Given the description of an element on the screen output the (x, y) to click on. 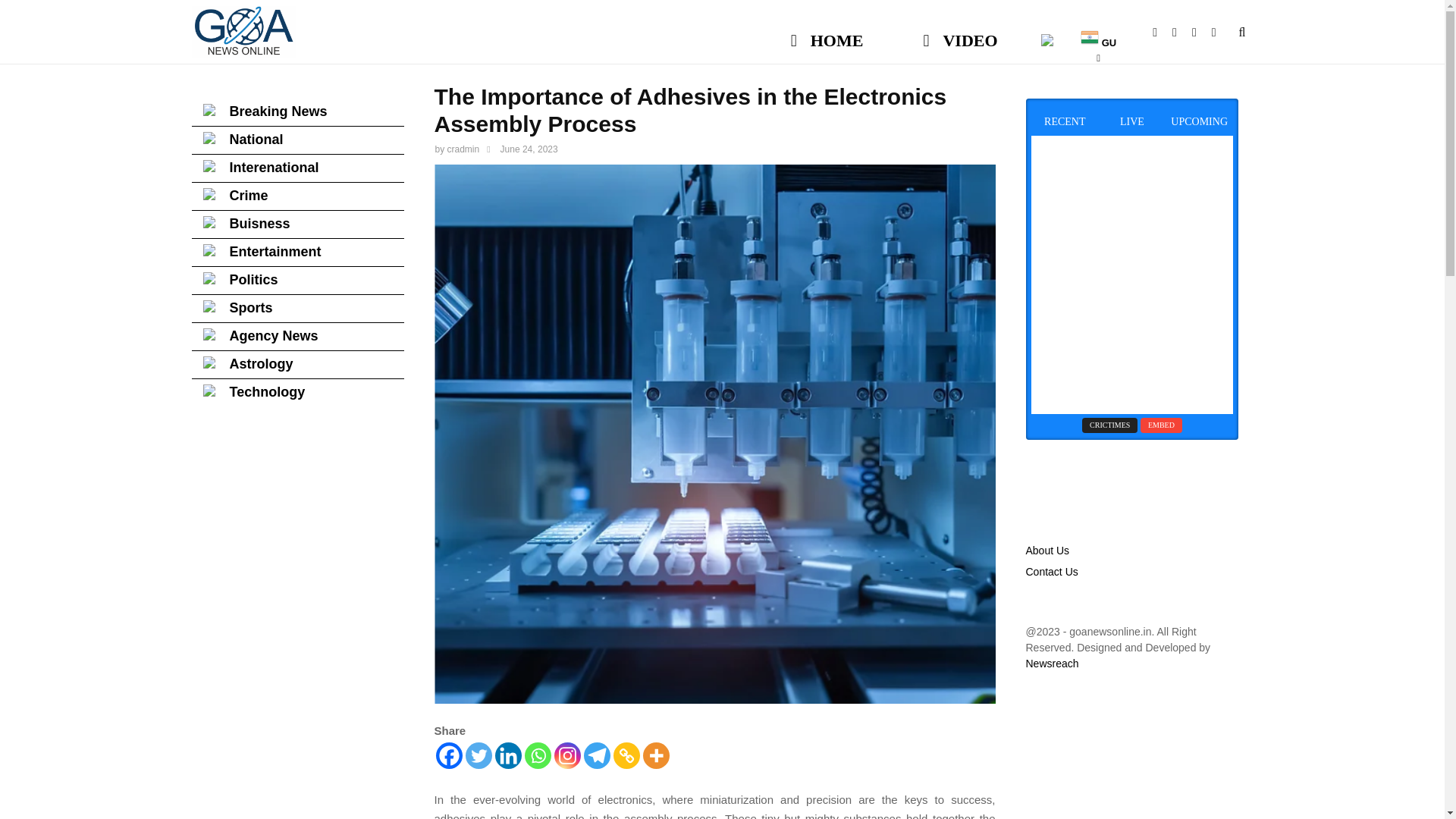
Facebook (448, 755)
Instagram (566, 755)
cradmin (463, 149)
Telegram (596, 755)
Whatsapp (537, 755)
Facebook (1162, 31)
Twitter (478, 755)
HOME (826, 33)
GU (1098, 33)
Linkedin (508, 755)
Email (1201, 31)
Gujarati (1098, 33)
Whatsapp (1221, 31)
VIDEO (960, 33)
Youtube (1182, 31)
